Given the description of an element on the screen output the (x, y) to click on. 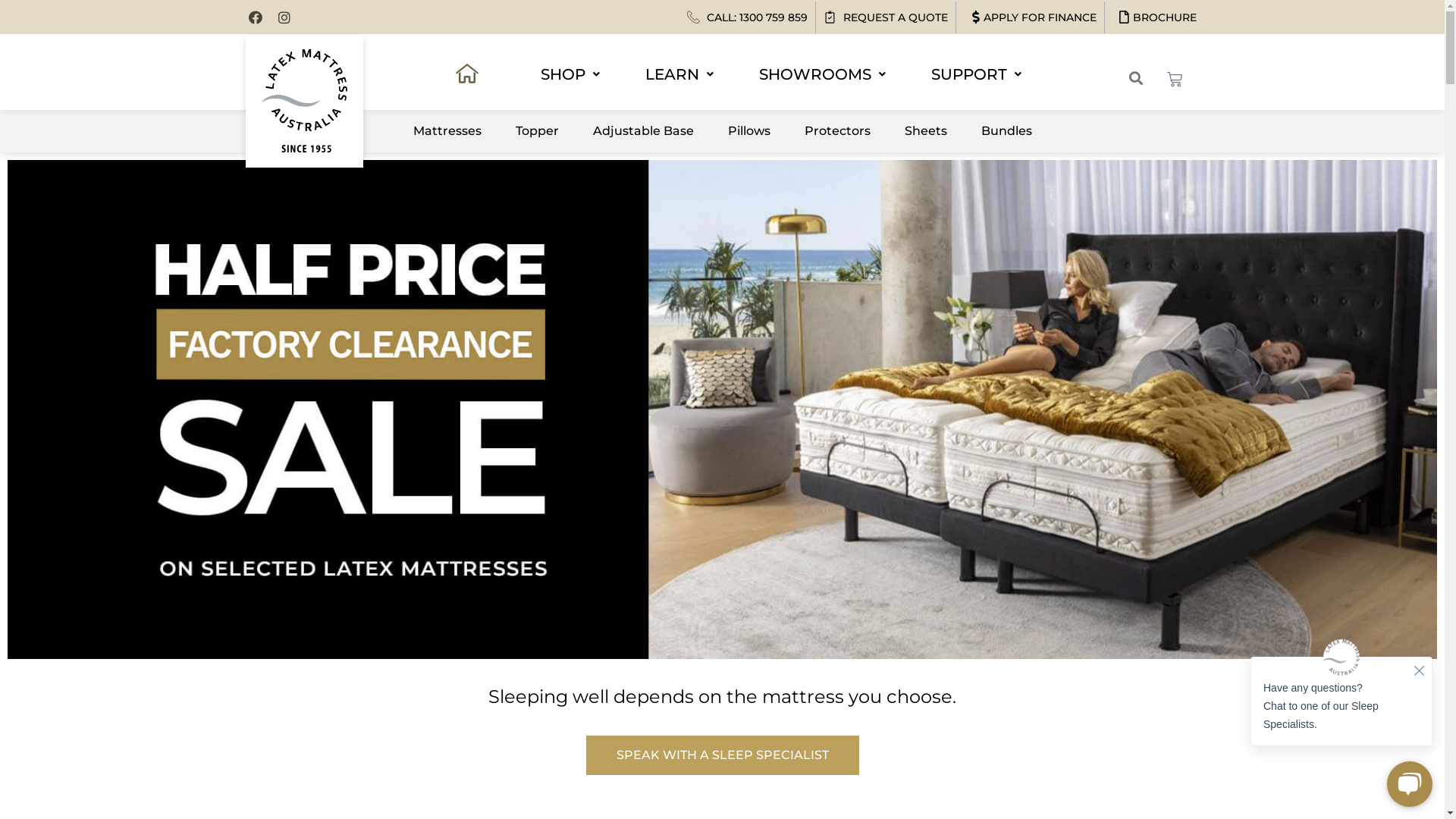
Adjustable Base Element type: text (642, 130)
Bundles Element type: text (1005, 130)
LEARN Element type: text (678, 74)
APPLY FOR FINANCE Element type: text (1029, 17)
Instagram Element type: text (284, 17)
Topper Element type: text (536, 130)
Pillows Element type: text (748, 130)
Mattresses Element type: text (446, 130)
SHOWROOMS Element type: text (822, 74)
SUPPORT Element type: text (975, 74)
SHOP Element type: text (570, 74)
SPEAK WITH A SLEEP SPECIALIST Element type: text (721, 755)
Protectors Element type: text (837, 130)
CALL: 1300 759 859 Element type: text (747, 17)
BROCHURE Element type: text (1153, 17)
CART Element type: text (1173, 79)
REQUEST A QUOTE Element type: text (885, 17)
Facebook Element type: text (255, 17)
Sheets Element type: text (925, 130)
